Given the description of an element on the screen output the (x, y) to click on. 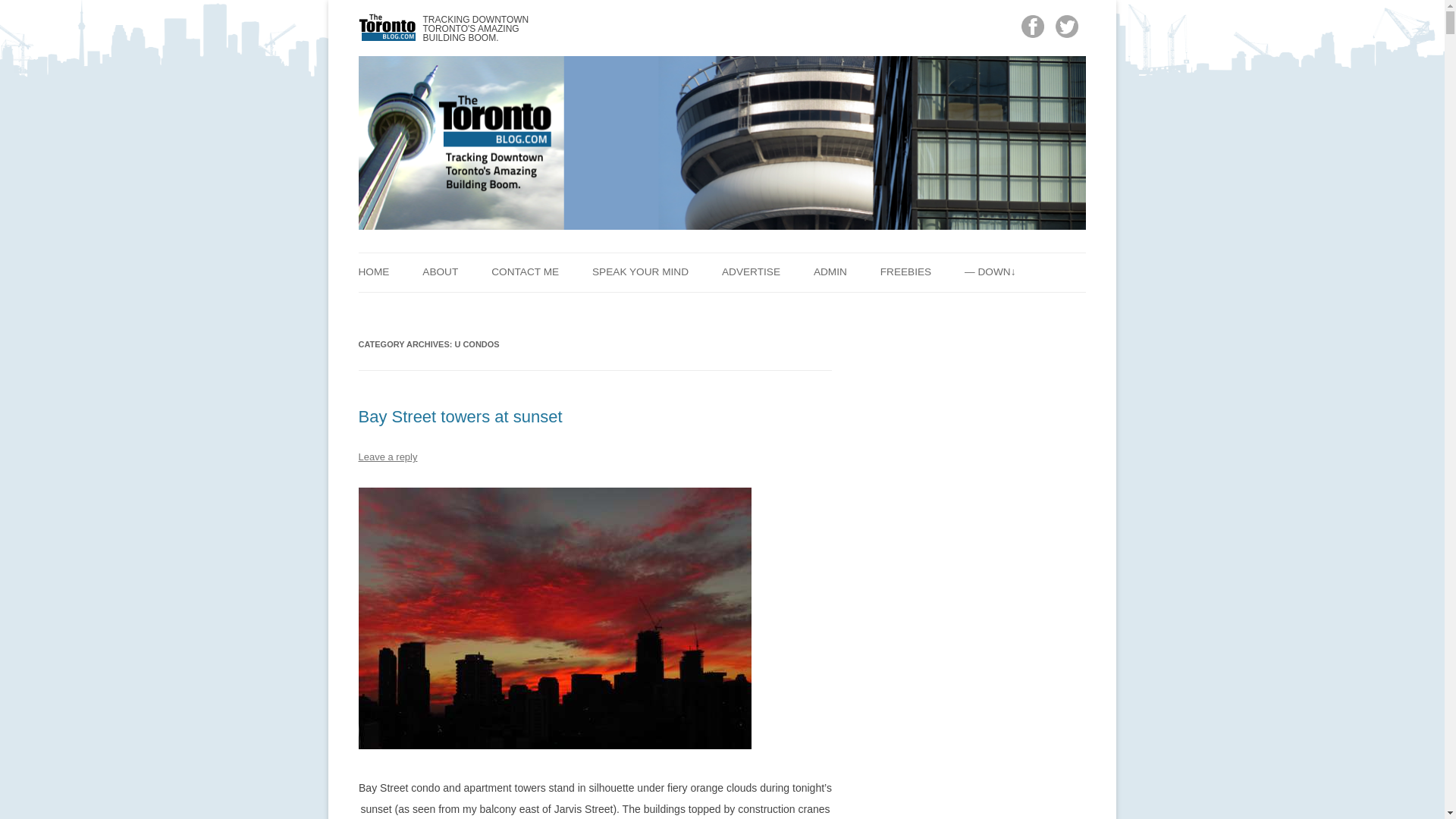
Leave a reply (387, 456)
www.TheTorontoBlog.com (441, 26)
FREEBIES (905, 272)
Bay Street towers at sunset (460, 416)
ADVERTISE (751, 272)
SPEAK YOUR MIND (640, 272)
ABOUT (440, 272)
www.TheTorontoBlog.com (441, 26)
